Given the description of an element on the screen output the (x, y) to click on. 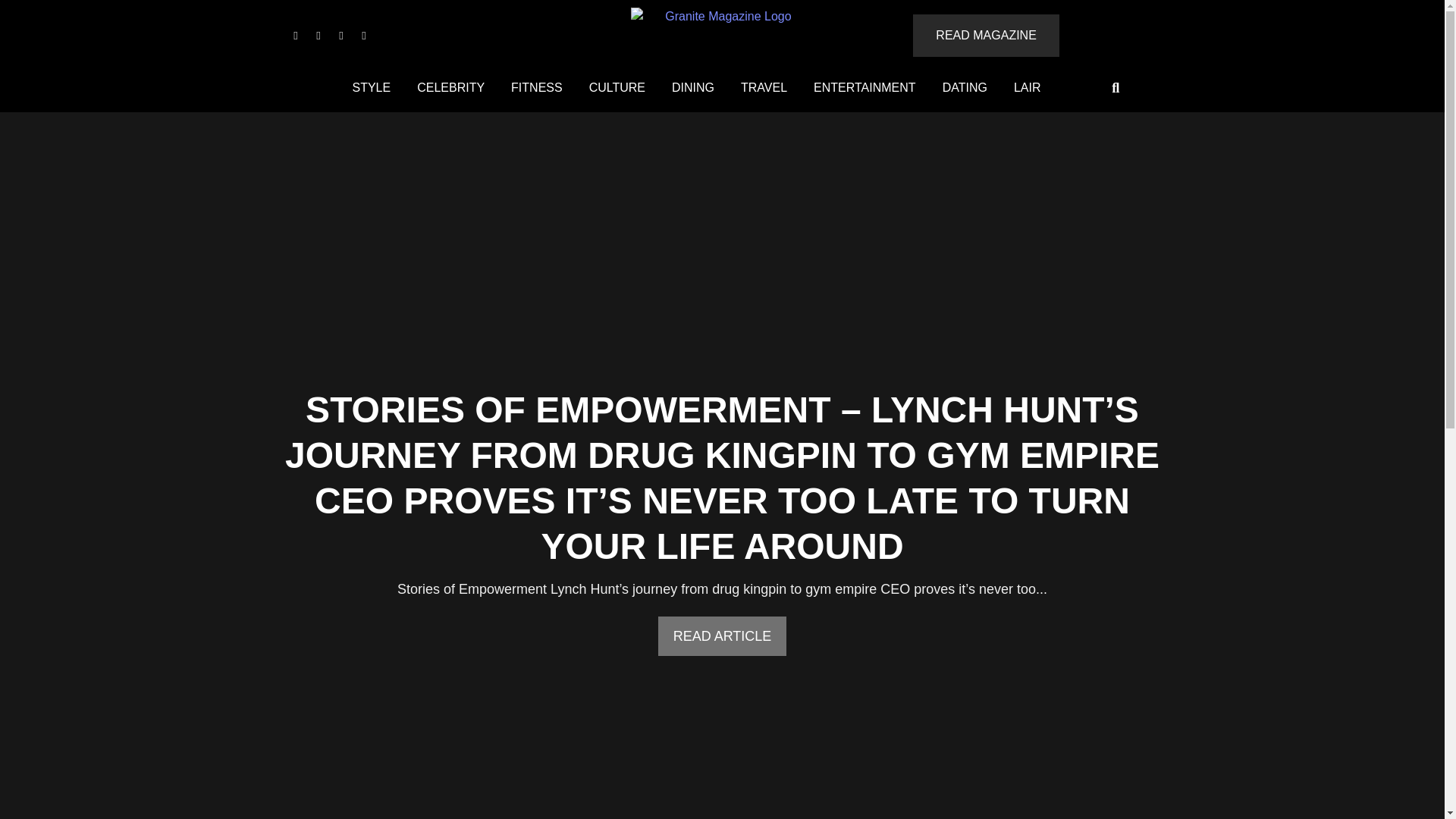
READ MAGAZINE (985, 35)
TRAVEL (763, 87)
LAIR (1027, 87)
FITNESS (536, 87)
STYLE (370, 87)
DATING (964, 87)
DINING (693, 87)
CELEBRITY (451, 87)
CULTURE (617, 87)
ENTERTAINMENT (864, 87)
